Given the description of an element on the screen output the (x, y) to click on. 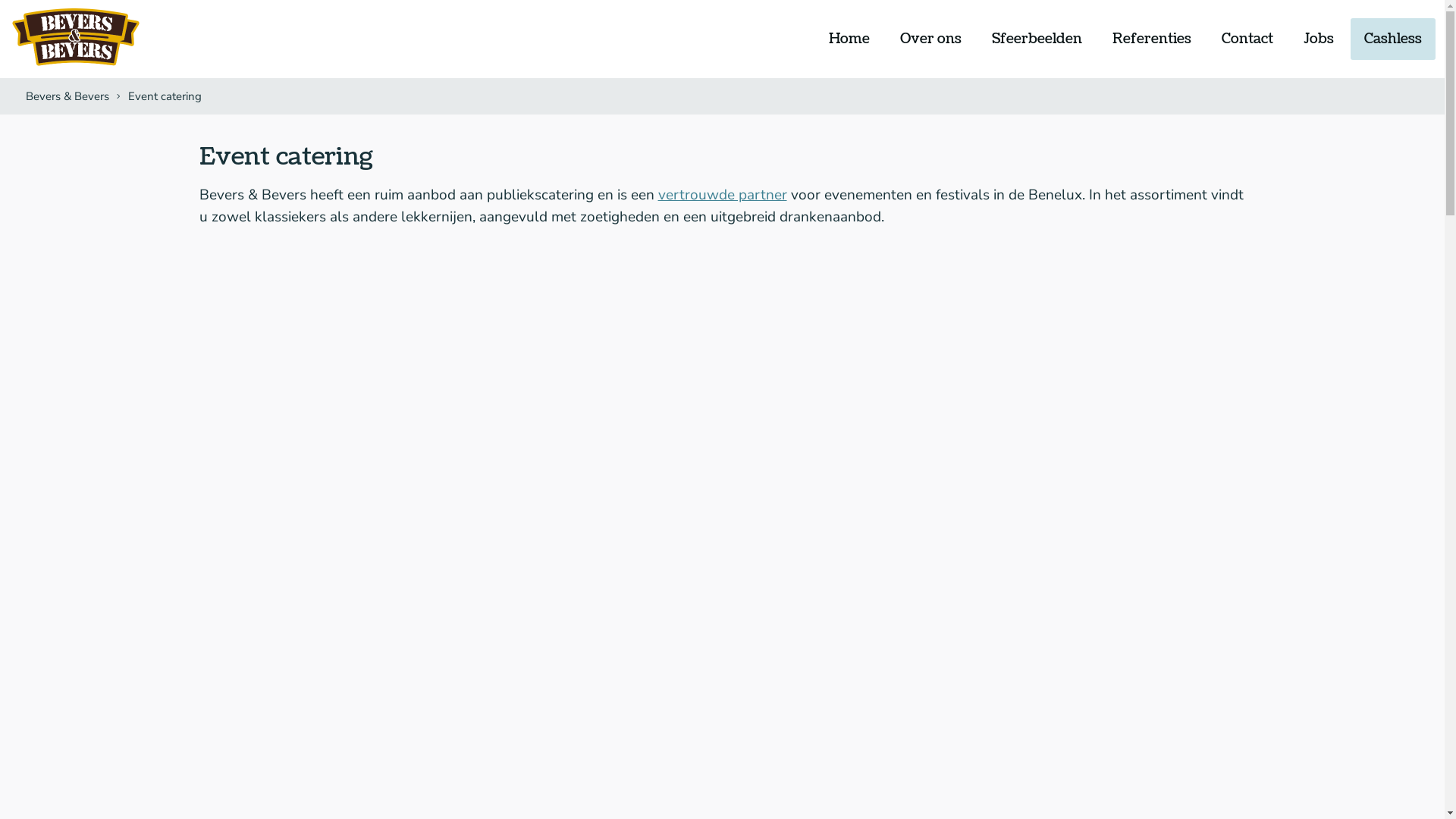
Referenties Element type: text (1151, 38)
Jobs Element type: text (1318, 38)
Sfeerbeelden Element type: text (1036, 38)
Bevers & Bevers Element type: text (67, 95)
vertrouwde partner Element type: text (722, 194)
Bevers & Bevers Element type: hover (75, 37)
Over ons Element type: text (930, 38)
Home Element type: text (849, 38)
Event catering Element type: text (162, 95)
Contact Element type: text (1247, 38)
Cashless Element type: text (1392, 38)
